Given the description of an element on the screen output the (x, y) to click on. 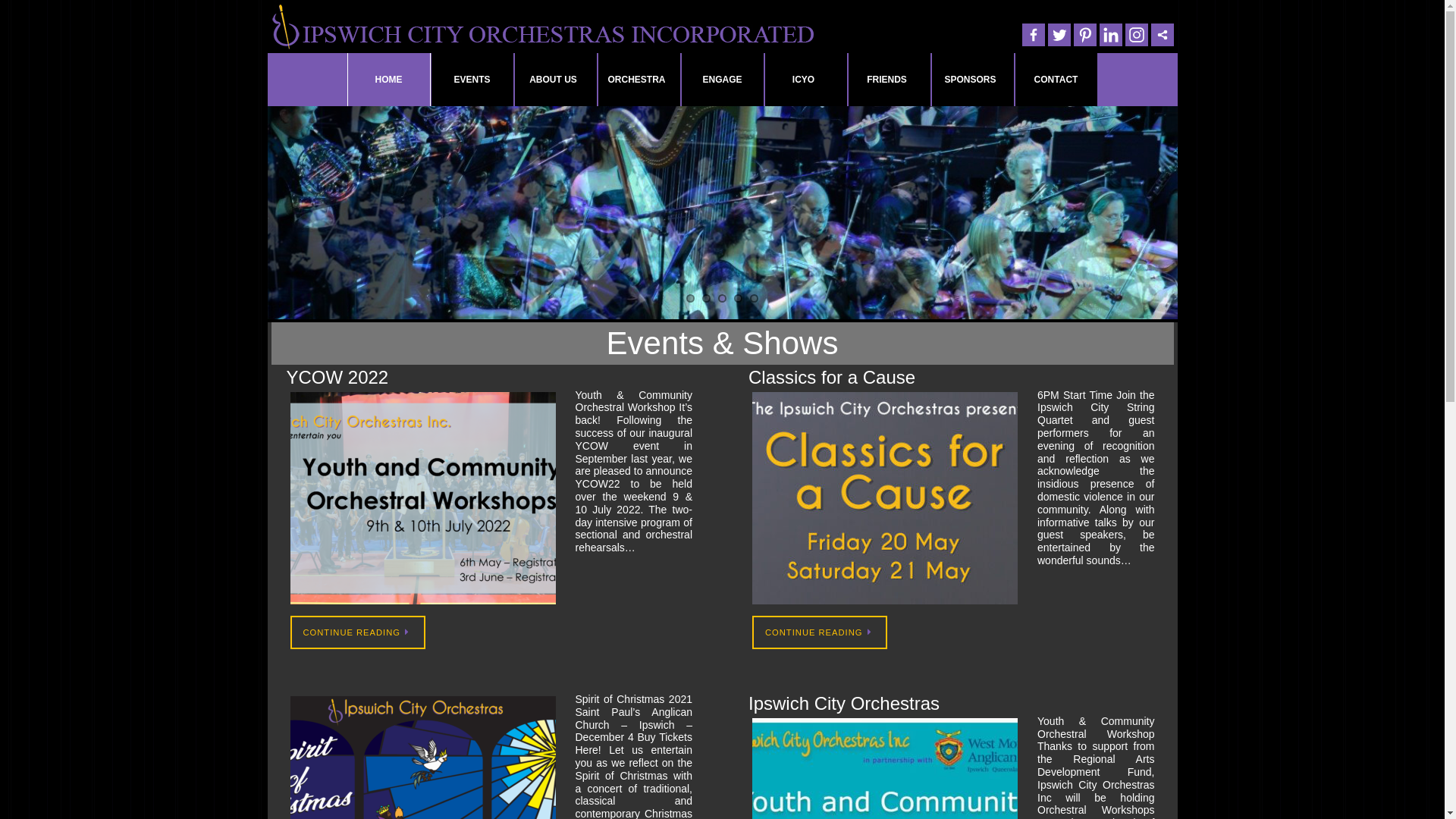
Linkedin Element type: hover (1110, 34)
More Element type: hover (1162, 34)
ORCHESTRA Element type: text (638, 79)
CONTINUE READING Element type: text (356, 632)
ICYO Element type: text (805, 79)
YCOW 2022 Element type: text (337, 377)
Classics for a Cause Element type: text (831, 377)
ICOinc Element type: hover (541, 26)
4 Element type: text (738, 298)
ABOUT US Element type: text (555, 79)
Instagram Element type: hover (1136, 34)
Twitter Element type: hover (1059, 34)
EVENTS Element type: text (472, 79)
3 Element type: text (722, 298)
Facebook Element type: hover (1033, 34)
5 Element type: text (753, 298)
CONTACT Element type: text (1056, 79)
Pinterest Element type: hover (1084, 34)
FRIENDS Element type: text (889, 79)
SPONSORS Element type: text (972, 79)
Ipswich City Orchestras Element type: text (843, 703)
CONTINUE READING Element type: text (819, 632)
2 Element type: text (706, 298)
1 Element type: text (690, 298)
HOME Element type: text (388, 79)
ENGAGE Element type: text (722, 79)
